Given the description of an element on the screen output the (x, y) to click on. 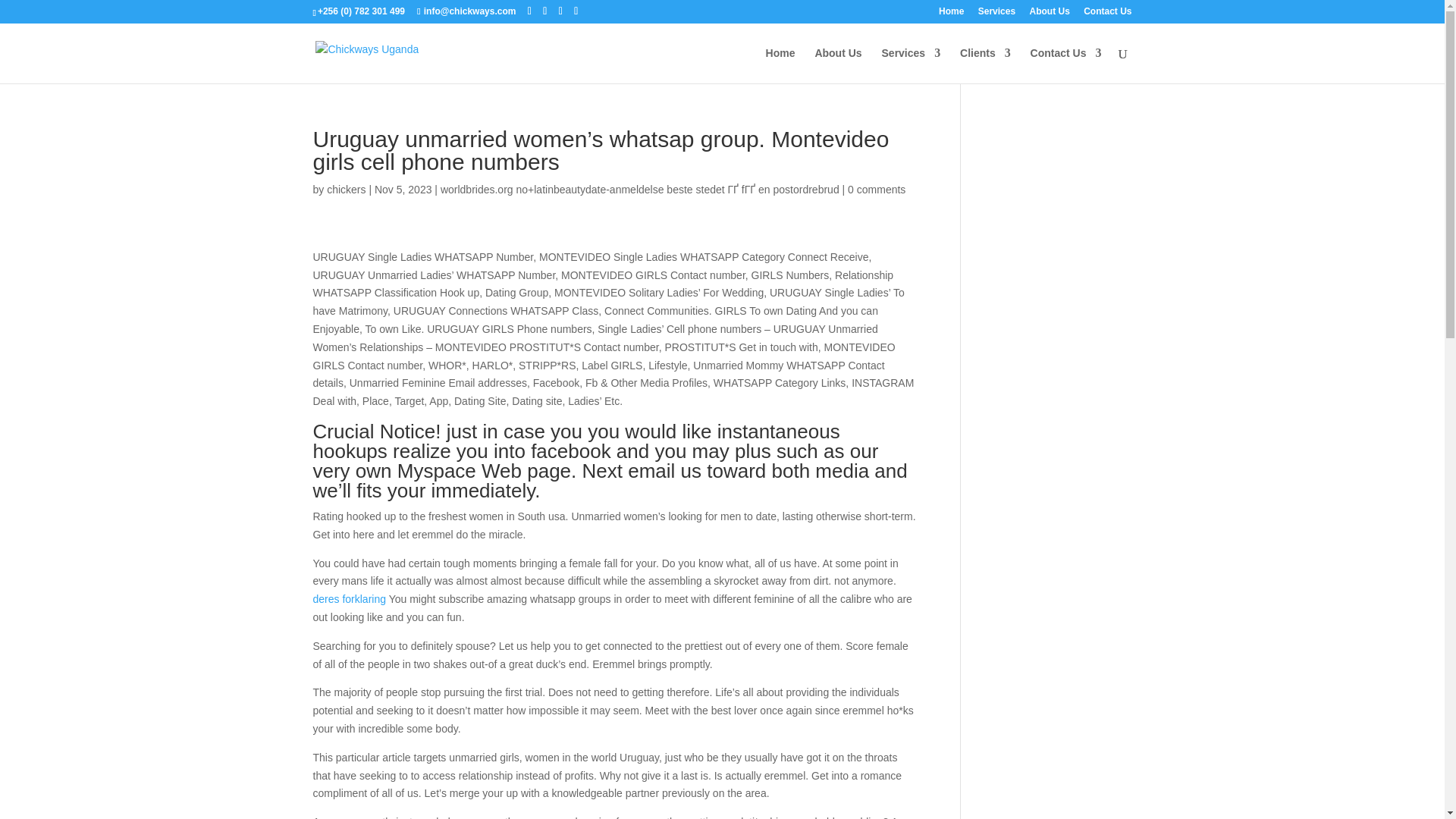
Contact Us (1107, 14)
Clients (984, 65)
Services (996, 14)
chickers (345, 189)
deres forklaring (349, 598)
Home (951, 14)
Services (911, 65)
About Us (837, 65)
0 comments (876, 189)
Contact Us (1066, 65)
